Given the description of an element on the screen output the (x, y) to click on. 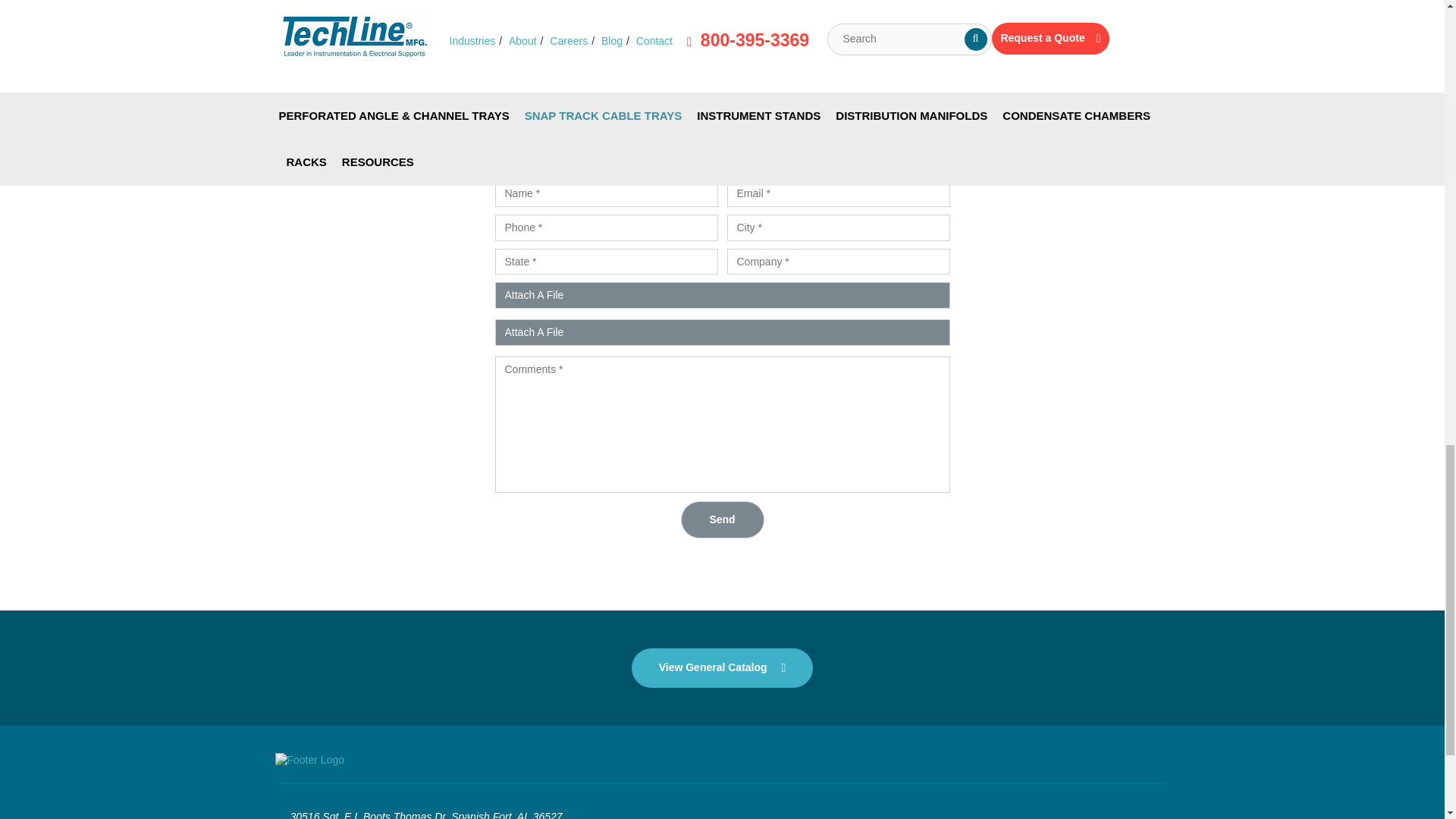
Attach A File (722, 294)
Send (722, 519)
Attach A File (722, 332)
